Given the description of an element on the screen output the (x, y) to click on. 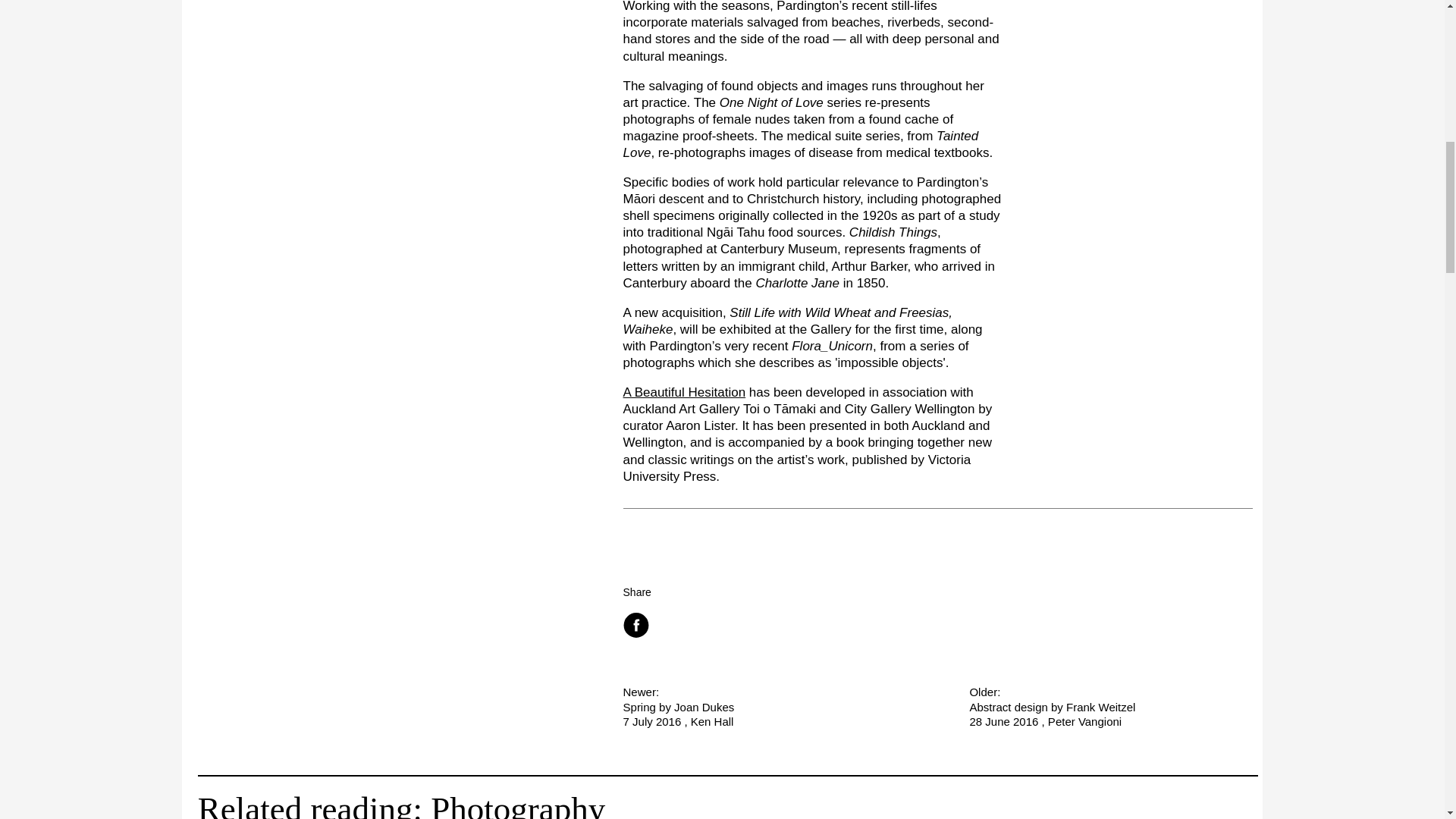
Facebook (765, 706)
A Beautiful Hesitation (636, 624)
